Given the description of an element on the screen output the (x, y) to click on. 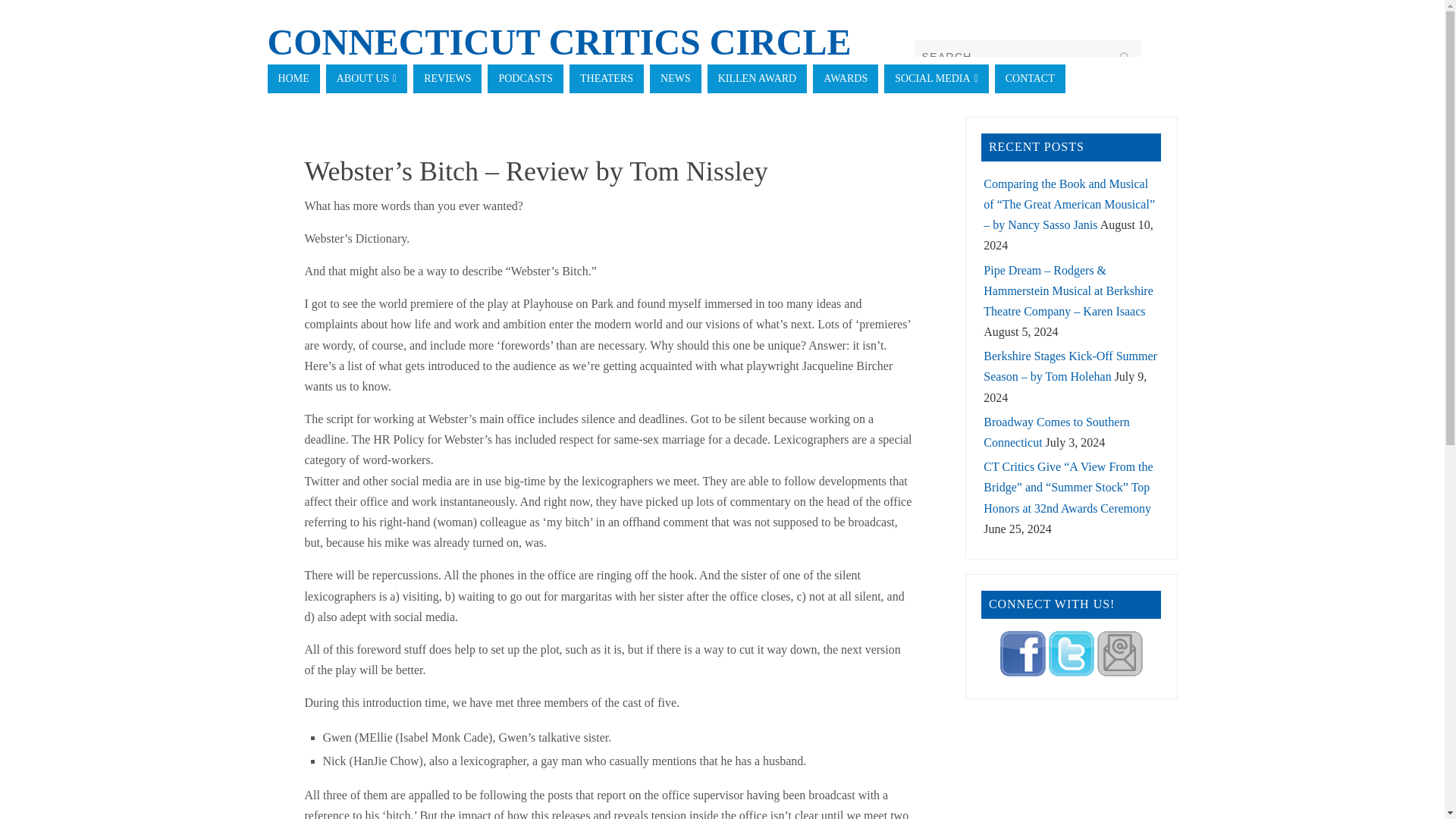
Connecticut Critics Circle (558, 42)
Theaters (606, 78)
Twitter (1070, 671)
KILLEN AWARD (756, 78)
About Us (366, 78)
THEATERS (606, 78)
Facebook (1021, 671)
CONTACT (1029, 78)
Reviews (447, 78)
SOCIAL MEDIA (935, 78)
